Given the description of an element on the screen output the (x, y) to click on. 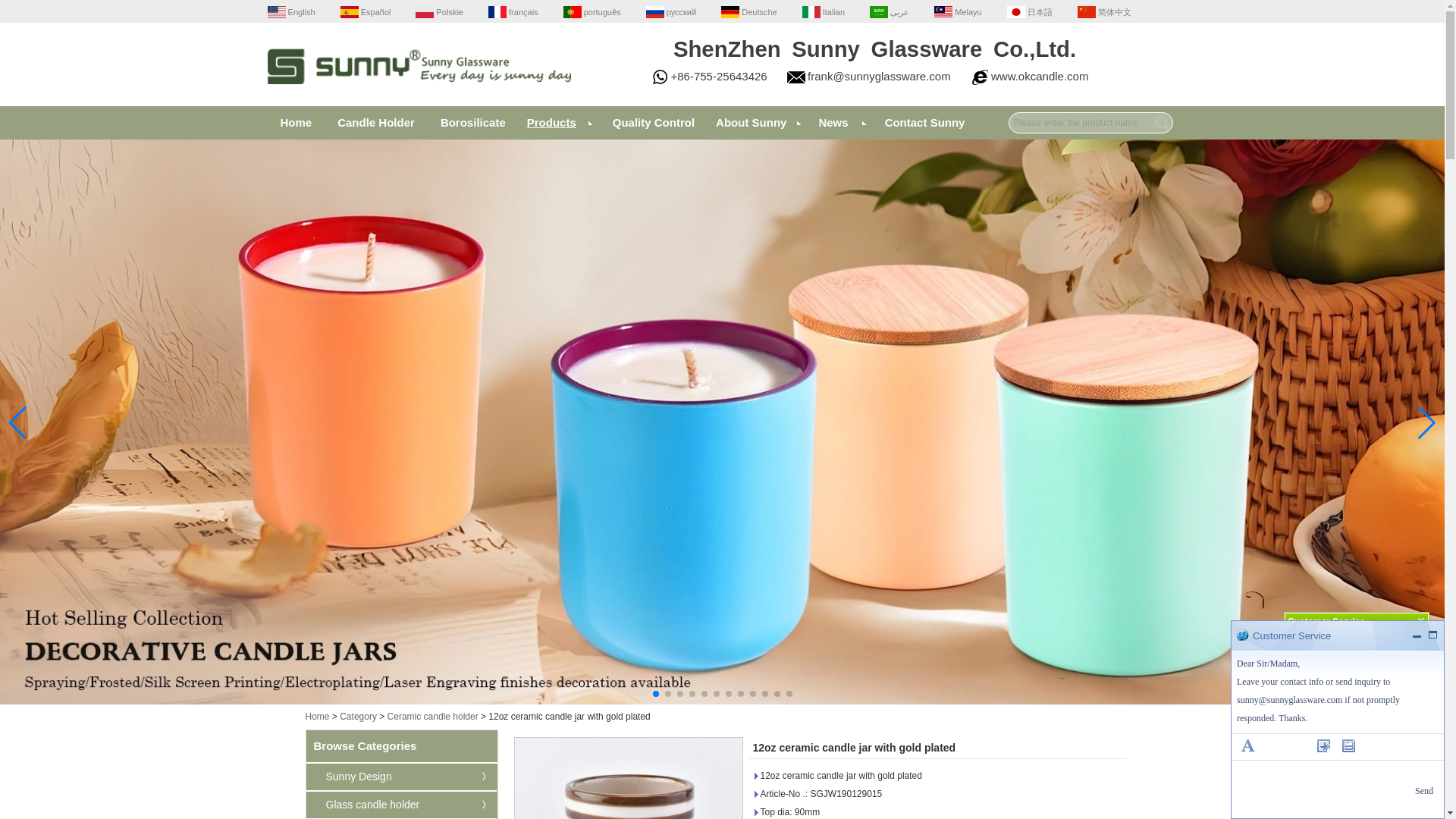
China Sunny Design manufacturer (348, 776)
Deutsche (748, 10)
Polskie (438, 10)
SHENZHEN SUNNY GLASSWARE CO.,LTD. (418, 91)
Melayu (957, 10)
Borosilicate (473, 122)
Home (295, 122)
Products (558, 122)
Italian (823, 10)
Please enter the product name (1091, 122)
www.okcandle.com (1039, 75)
Candle Holder (375, 122)
China Glass candle holder manufacturer (362, 804)
SHENZHEN SUNNY GLASSWARE CO.,LTD. (418, 66)
English (290, 10)
